Given the description of an element on the screen output the (x, y) to click on. 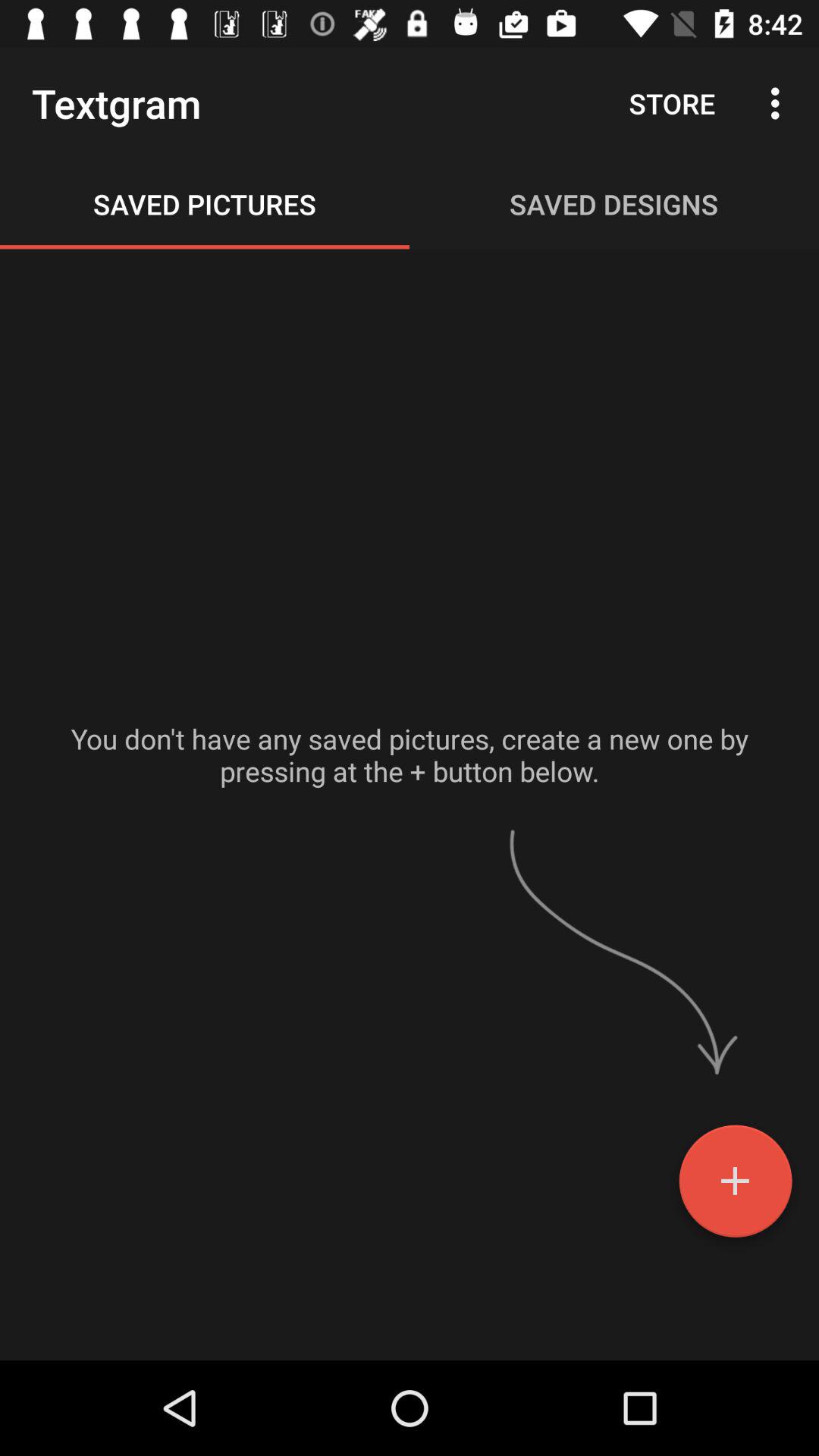
choose the item at the bottom right corner (735, 1186)
